Given the description of an element on the screen output the (x, y) to click on. 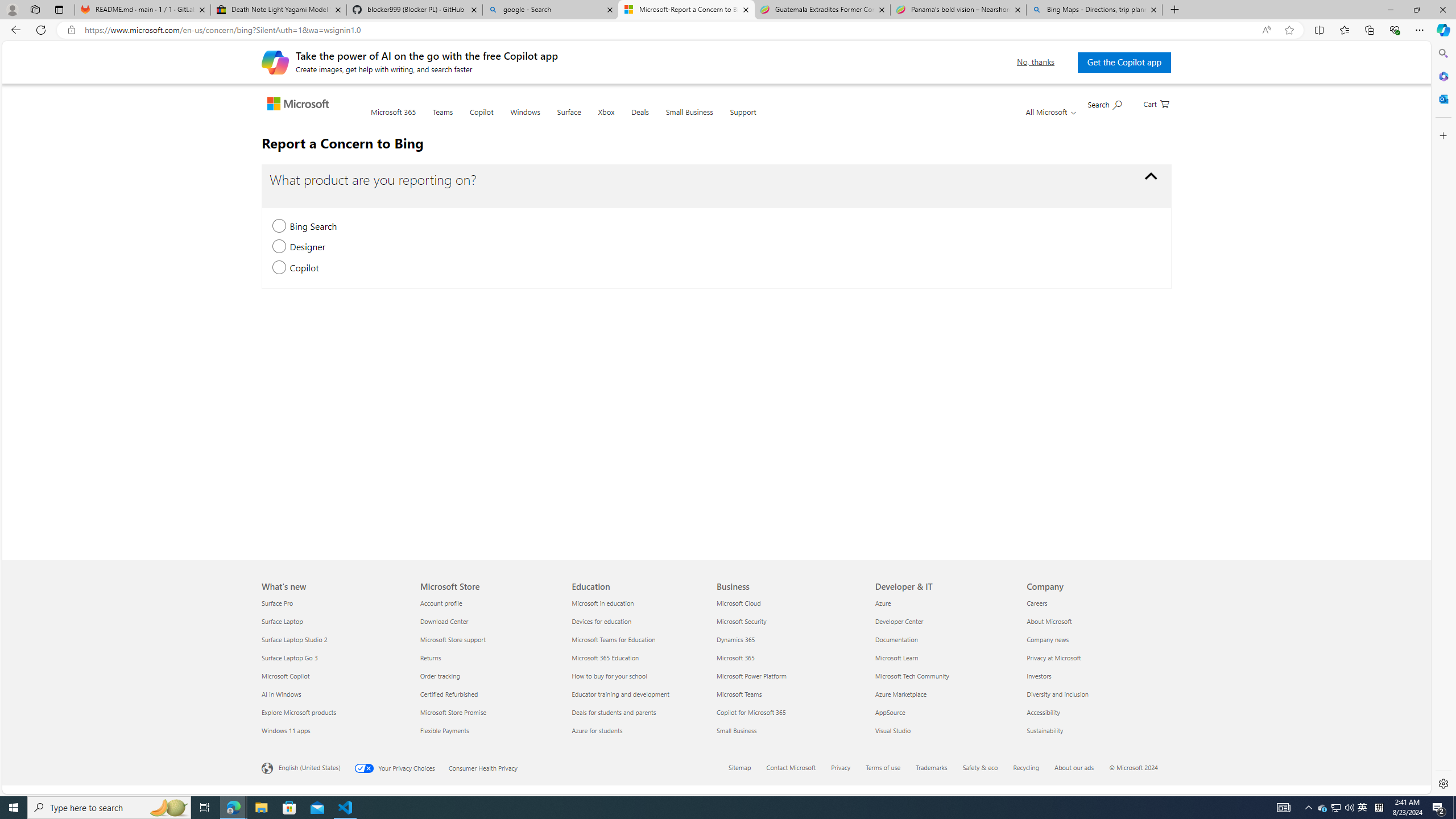
0 items in shopping cart (1155, 103)
Trademarks (937, 768)
Create images, get help with writing, and search faster (275, 62)
Microsoft in education Education (603, 602)
Windows 11 apps (334, 730)
Surface Pro (334, 602)
Copilot for Microsoft 365 (788, 711)
Search Microsoft.com (1103, 103)
